Given the description of an element on the screen output the (x, y) to click on. 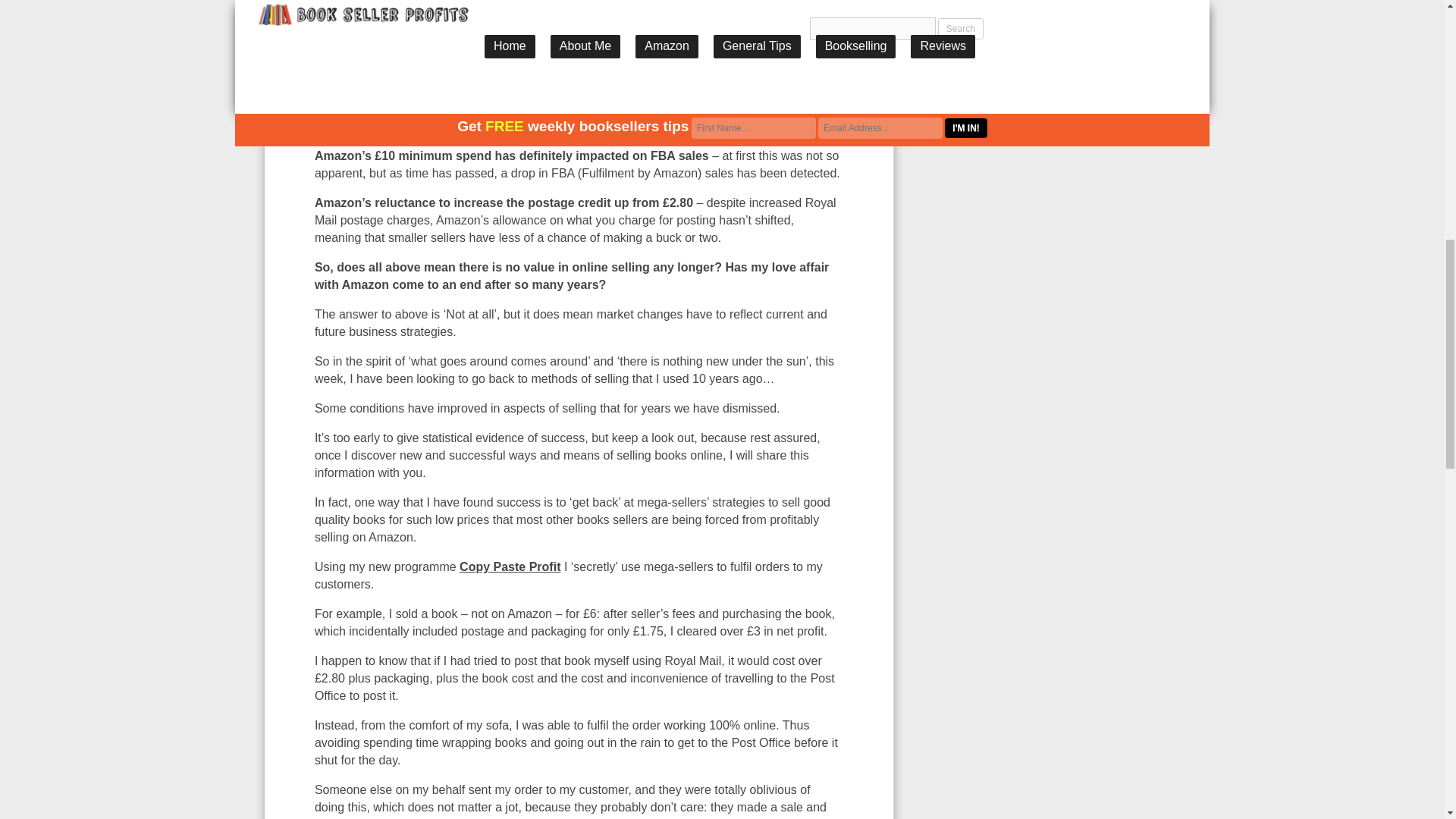
Copy Paste Profit (510, 566)
